Given the description of an element on the screen output the (x, y) to click on. 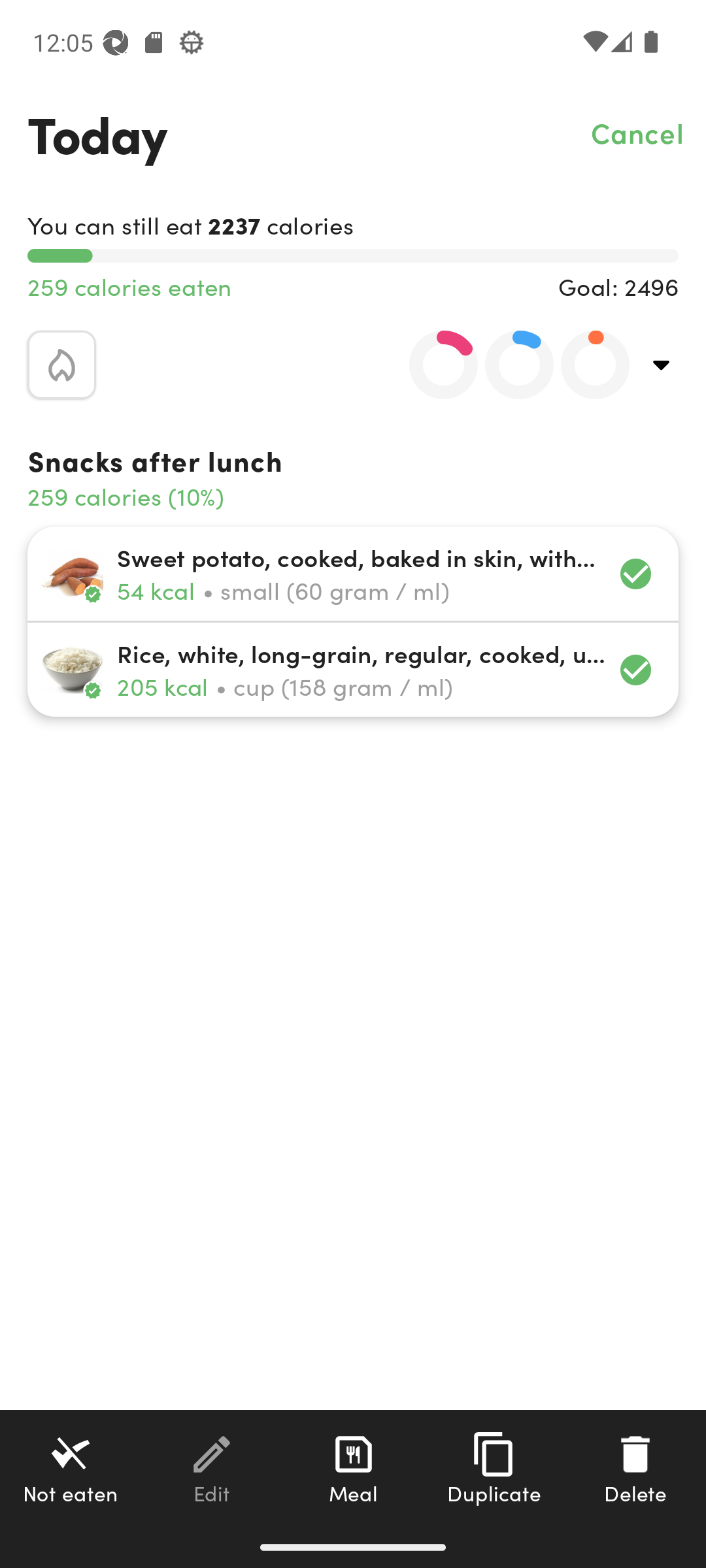
Cancel (637, 132)
calorie_icon (62, 365)
0.15 0.09 0.01 (508, 365)
top_right_action (661, 365)
Not eaten (70, 1468)
Edit (211, 1468)
Meal (352, 1468)
Duplicate (493, 1468)
Delete (635, 1468)
